Given the description of an element on the screen output the (x, y) to click on. 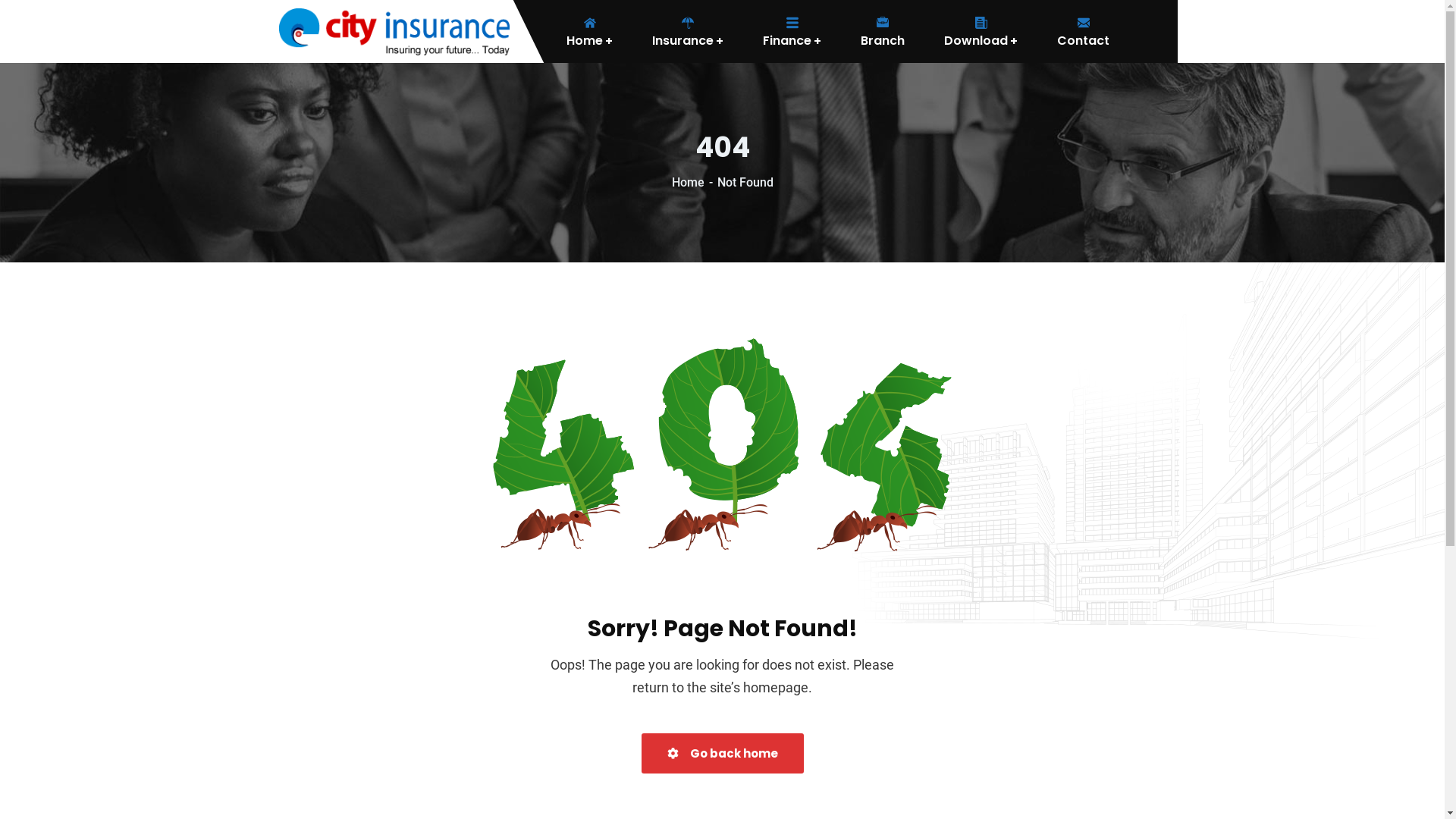
Go back home Element type: text (722, 753)
Bangladesh Securities & Exchange Commission Element type: text (690, 636)
Contact Element type: text (1083, 31)
Insurance Development & Regulatory Authority Element type: text (690, 683)
City Insurance Element type: hover (394, 30)
City Insurance Element type: text (790, 784)
Chittagong Stock Exchange Ltd Element type: text (641, 589)
Home Element type: text (572, 31)
Dhaka Stock Exchange Ltd. Element type: text (627, 542)
Download Element type: text (980, 31)
Branch Element type: text (882, 31)
Home Element type: text (694, 182)
Finance Element type: text (791, 31)
Insurance Element type: text (687, 31)
